Given the description of an element on the screen output the (x, y) to click on. 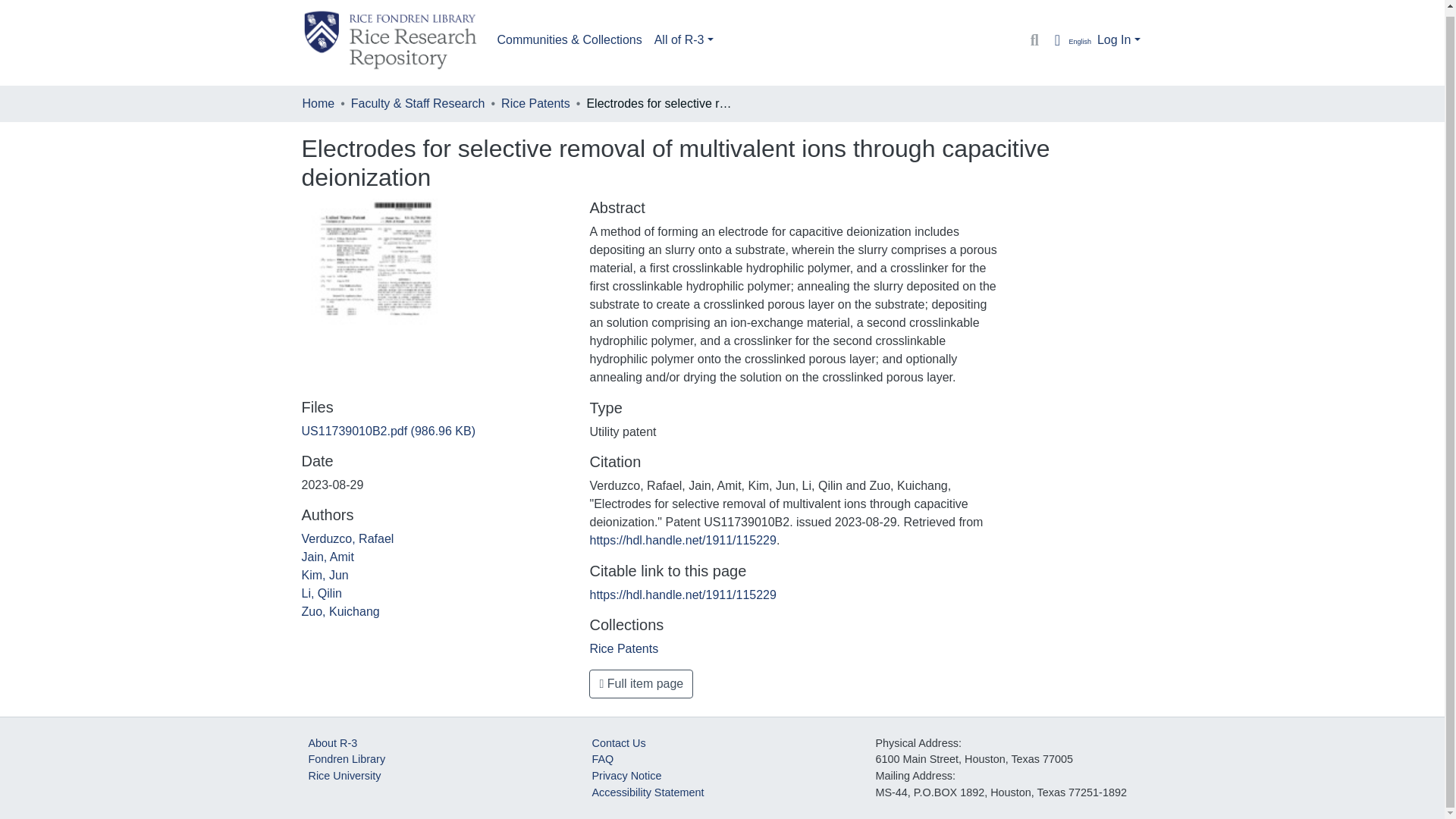
FAQ (601, 758)
About R-3 (331, 743)
English (1069, 40)
Language switch (1069, 40)
Log In (1118, 39)
Privacy Notice (626, 775)
Full item page (641, 683)
All of R-3 (683, 40)
Search (1035, 39)
Home (317, 104)
